Given the description of an element on the screen output the (x, y) to click on. 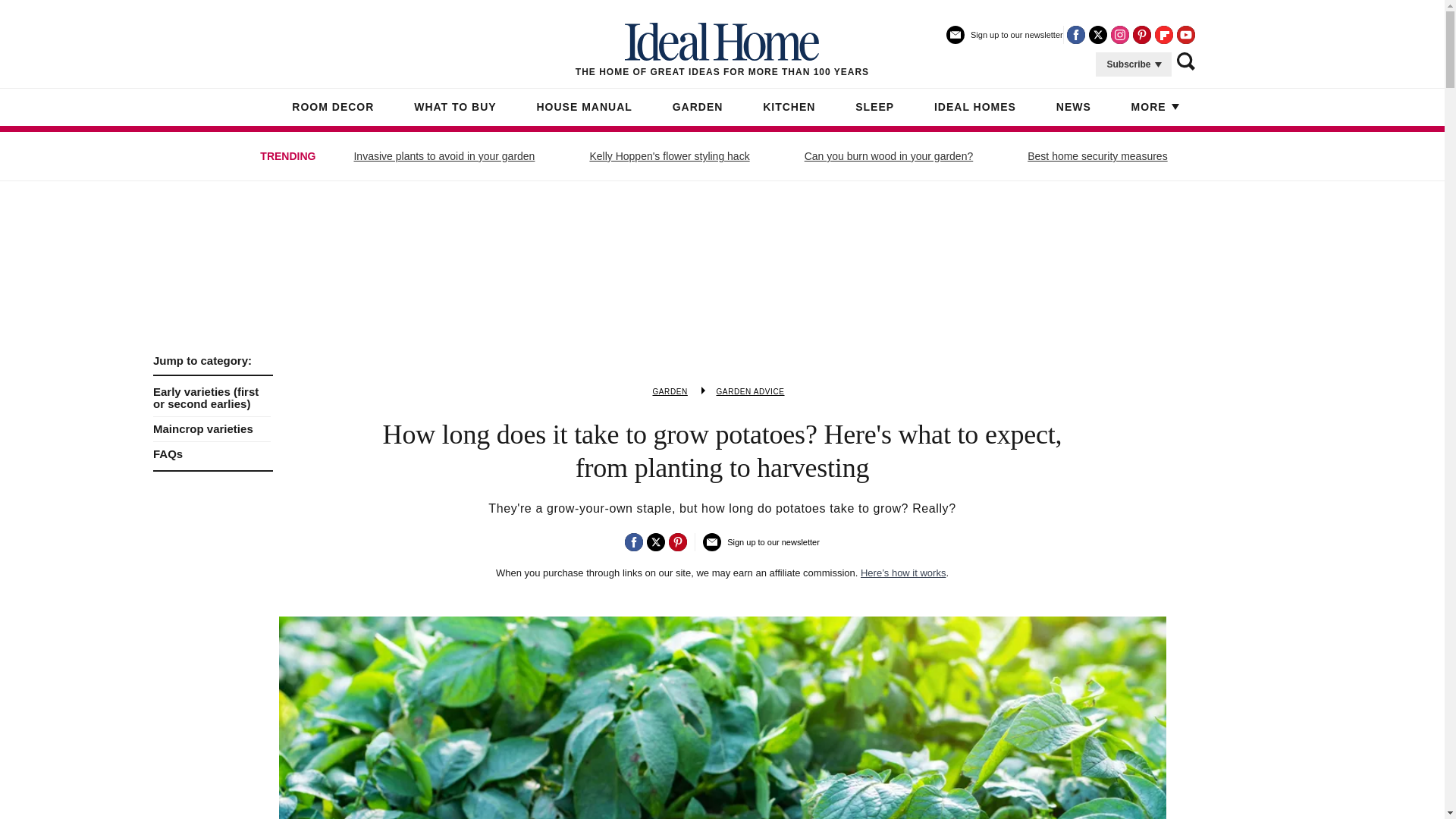
GARDEN ADVICE (750, 391)
WHAT TO BUY (454, 108)
HOUSE MANUAL (583, 108)
Jump to category: (212, 360)
GARDEN (669, 391)
Can you burn wood in your garden? (888, 155)
Kelly Hoppen's flower styling hack (668, 155)
KITCHEN (788, 108)
GARDEN (697, 108)
Sign up to our newsletter (1004, 40)
ROOM DECOR (333, 108)
SLEEP (874, 108)
NEWS (1073, 108)
Best home security measures (1097, 155)
IDEAL HOMES (975, 108)
